Given the description of an element on the screen output the (x, y) to click on. 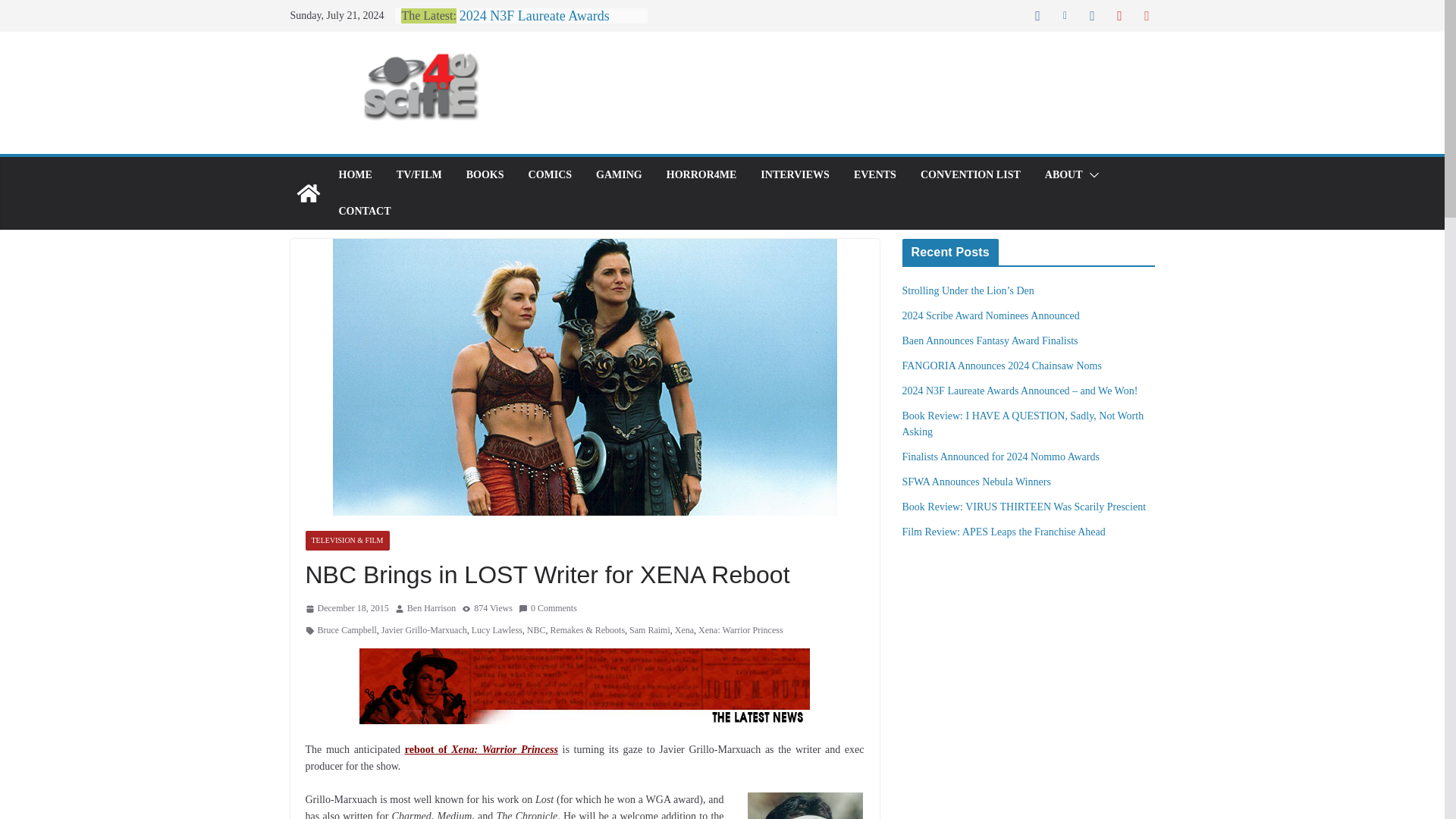
0 Comments (547, 608)
CONVENTION LIST (970, 174)
SciFi4Me.com (307, 193)
Lucy Lawless (496, 630)
HOME (354, 174)
BOOKS (484, 174)
Bruce Campbell (346, 630)
Xena: Warrior Princess (740, 630)
Javier Grillo-Marxuach (424, 630)
7:50 pm (346, 608)
Ben Harrison (431, 608)
GAMING (618, 174)
Xena (684, 630)
Sam Raimi (648, 630)
NBC (536, 630)
